Given the description of an element on the screen output the (x, y) to click on. 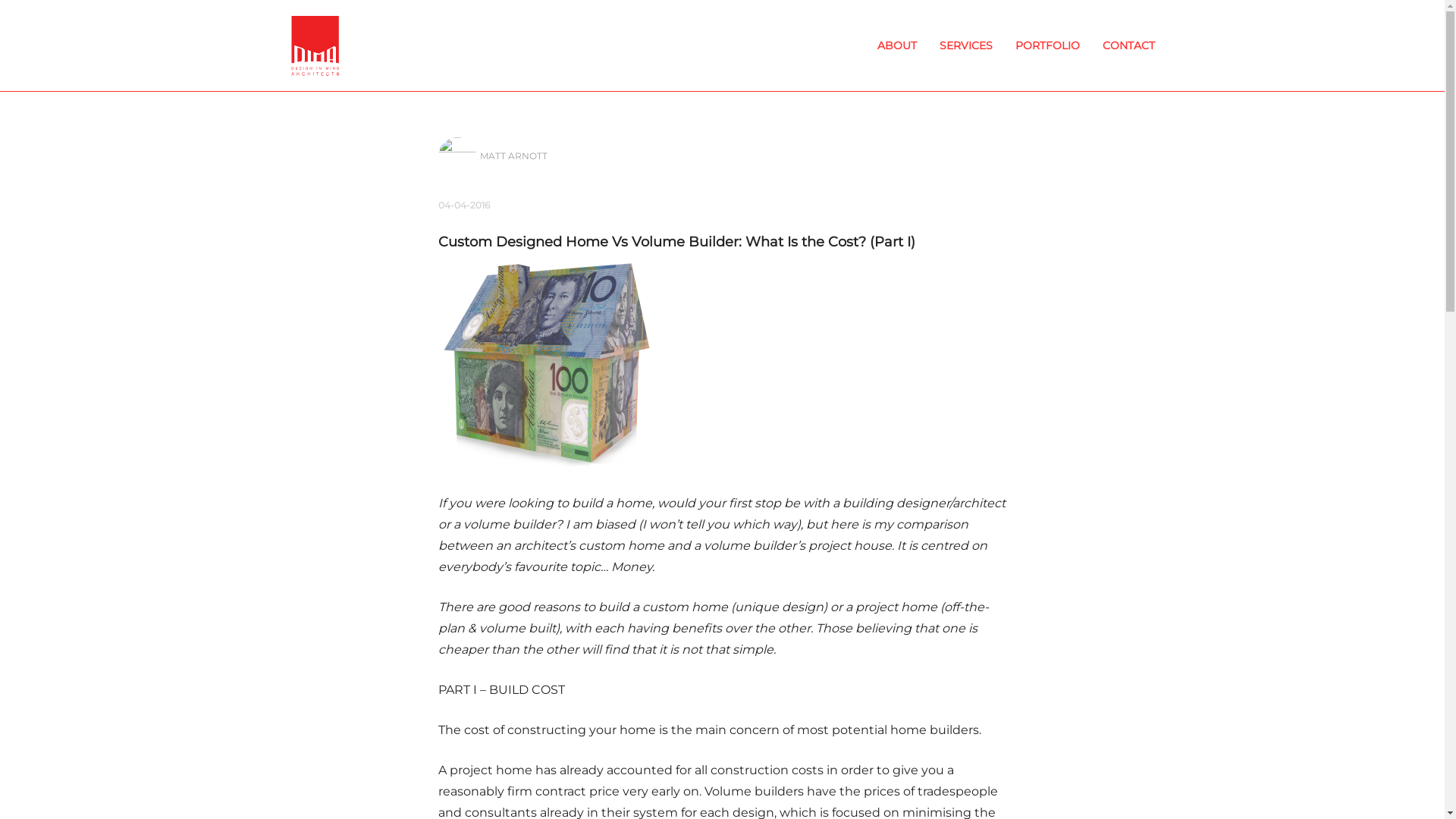
SERVICES Element type: text (966, 45)
PORTFOLIO Element type: text (1047, 45)
ABOUT Element type: text (897, 45)
CONTACT Element type: text (1127, 45)
